Given the description of an element on the screen output the (x, y) to click on. 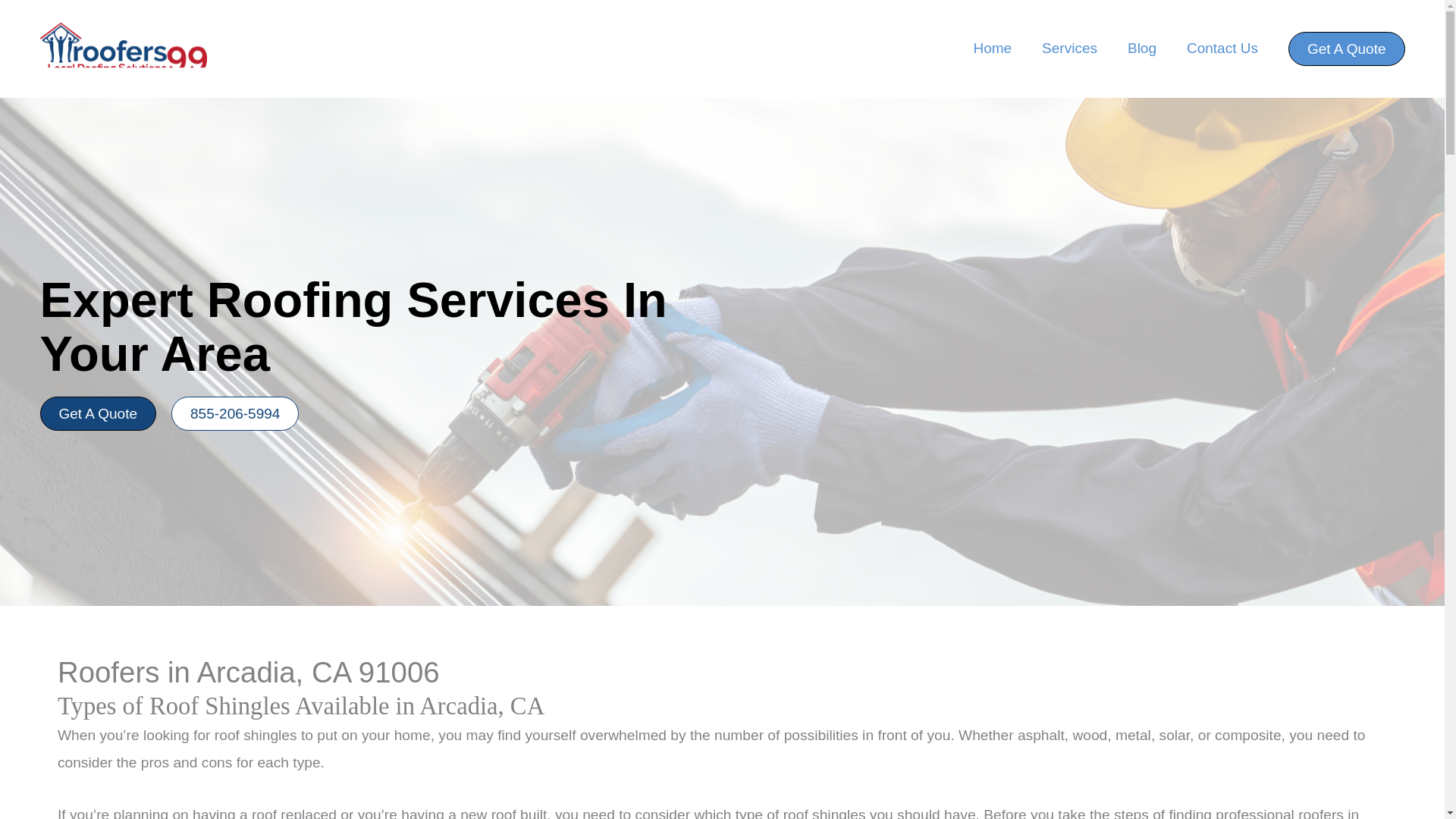
Contact Us (1222, 48)
Services (1069, 48)
Get A Quote (1346, 48)
Get A Quote (97, 413)
Home (992, 48)
Blog (1142, 48)
855-206-5994 (234, 413)
